Given the description of an element on the screen output the (x, y) to click on. 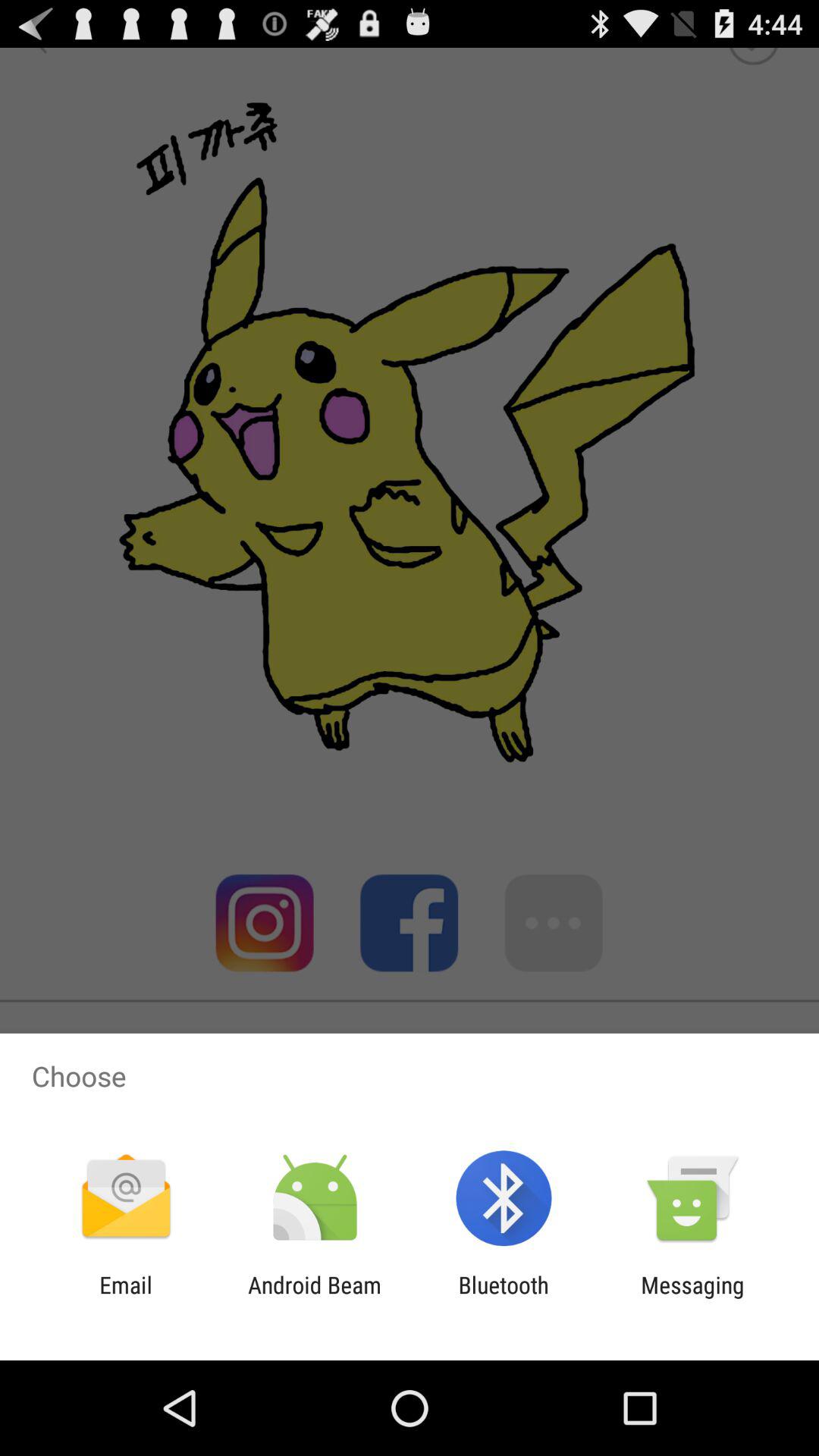
choose messaging icon (692, 1298)
